Given the description of an element on the screen output the (x, y) to click on. 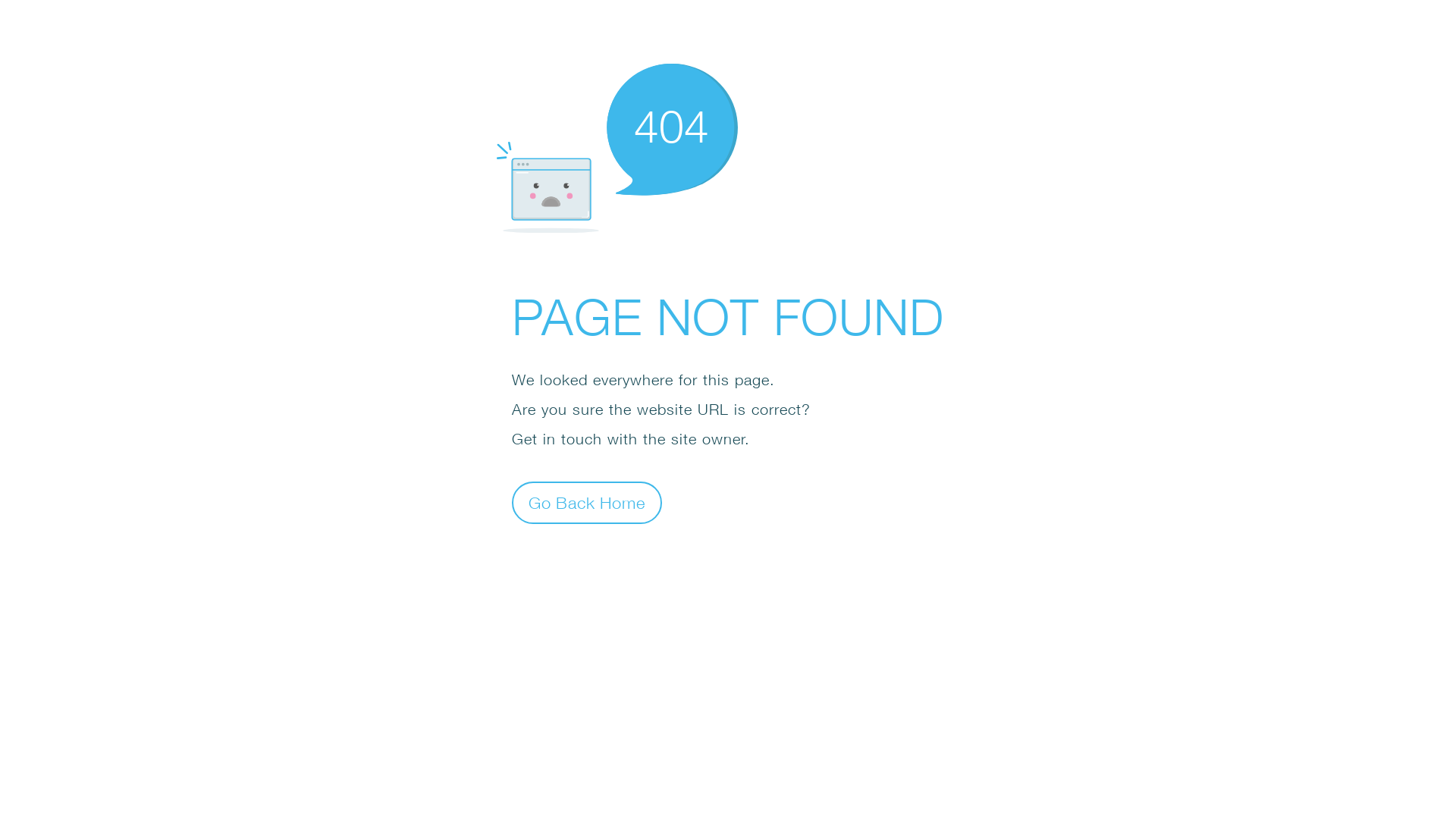
Go Back Home Element type: text (586, 502)
